Given the description of an element on the screen output the (x, y) to click on. 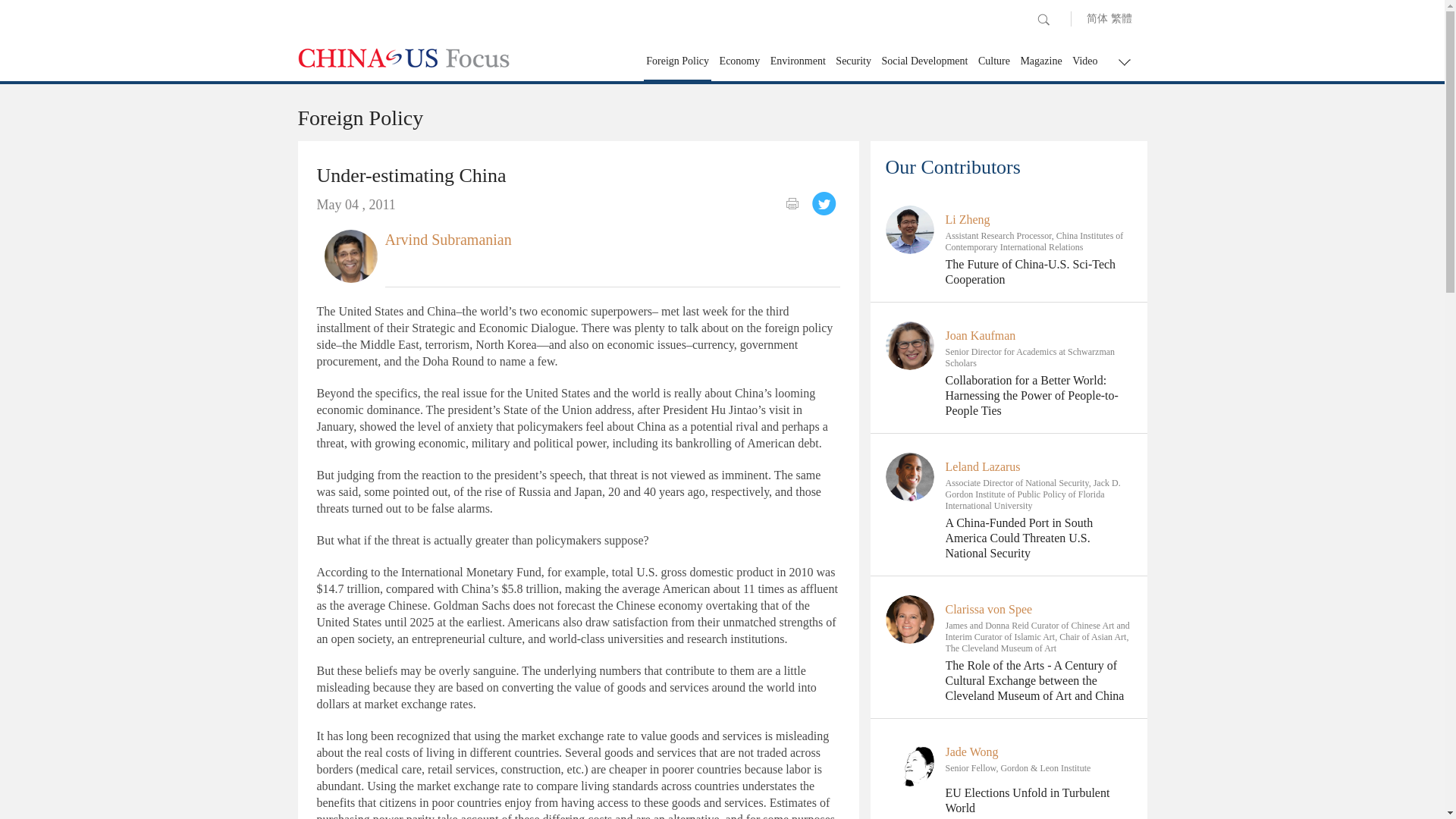
Search (1043, 19)
Arvind Subramanian (448, 239)
CHINA US Focus (403, 58)
Arvind Subramanian (350, 255)
